Given the description of an element on the screen output the (x, y) to click on. 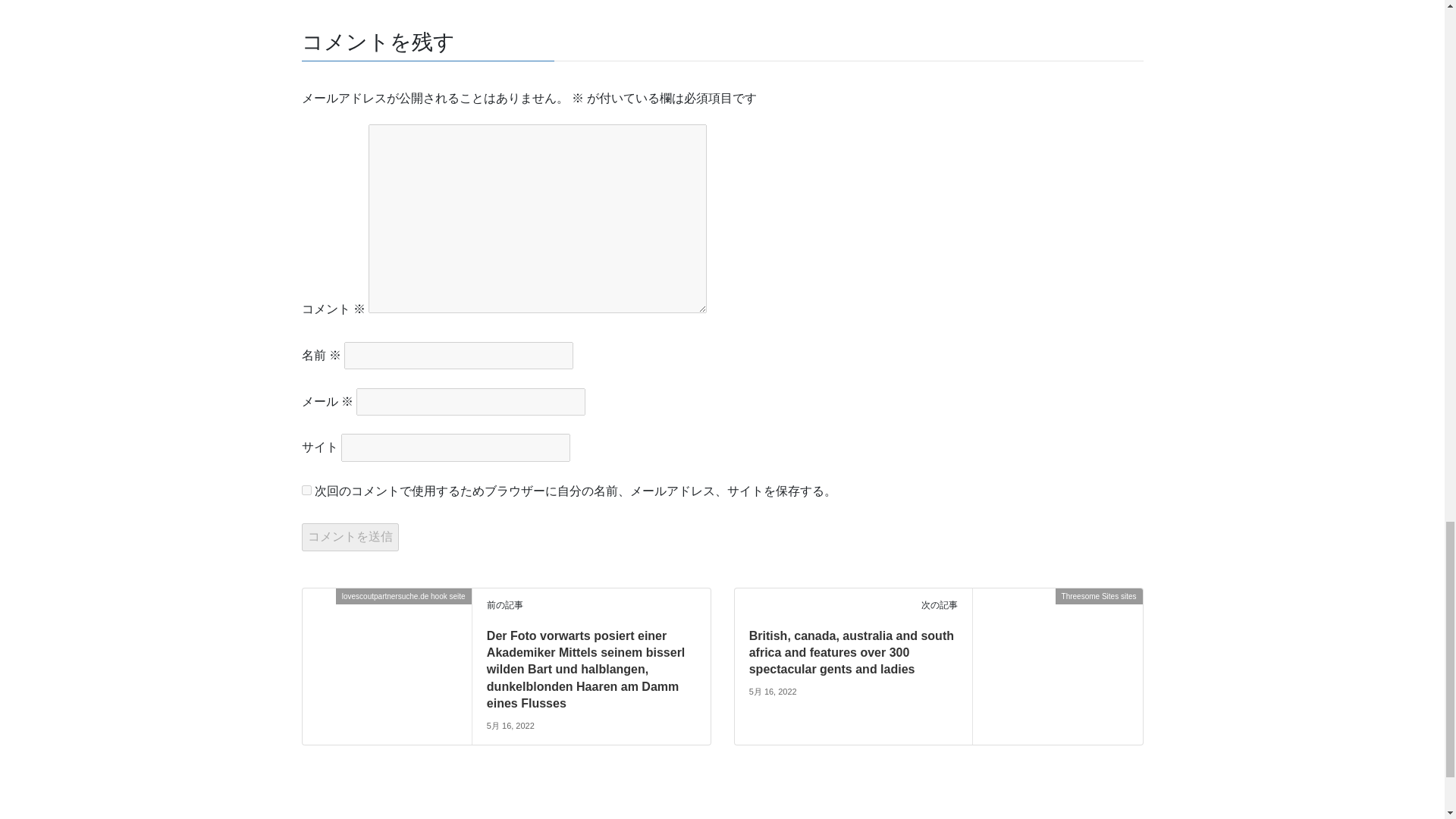
yes (306, 490)
